Given the description of an element on the screen output the (x, y) to click on. 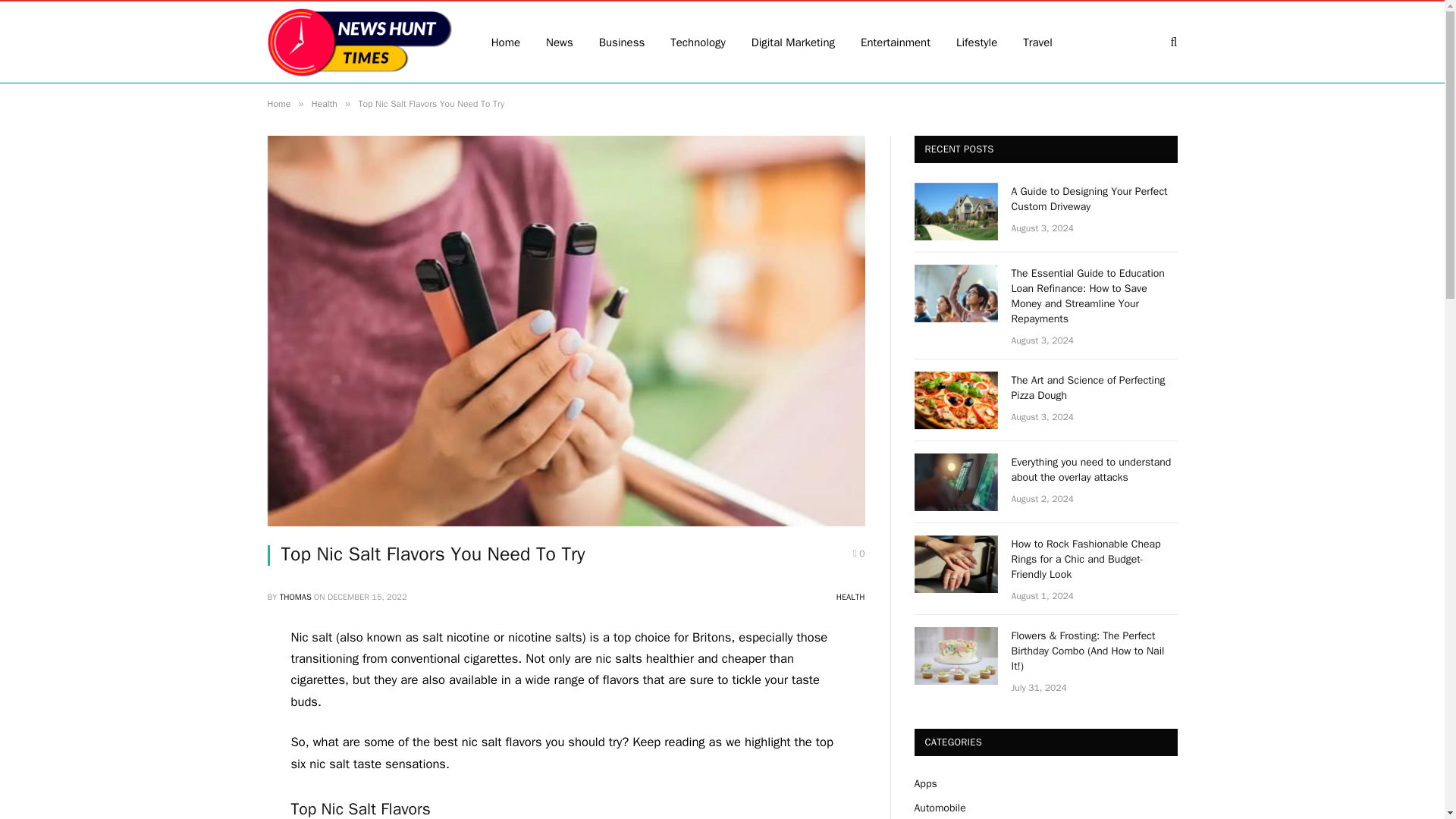
2022-12-15 (367, 596)
The Art and Science of Perfecting Pizza Dough (1094, 388)
Everything you need to understand about the overlay attacks (1094, 470)
The Art and Science of Perfecting Pizza Dough (955, 400)
Digital Marketing (792, 41)
Home (277, 103)
A Guide to Designing Your Perfect Custom Driveway (955, 211)
Posts by Thomas (295, 596)
A Guide to Designing Your Perfect Custom Driveway (1094, 199)
News Hunt Times (358, 42)
THOMAS (295, 596)
